Given the description of an element on the screen output the (x, y) to click on. 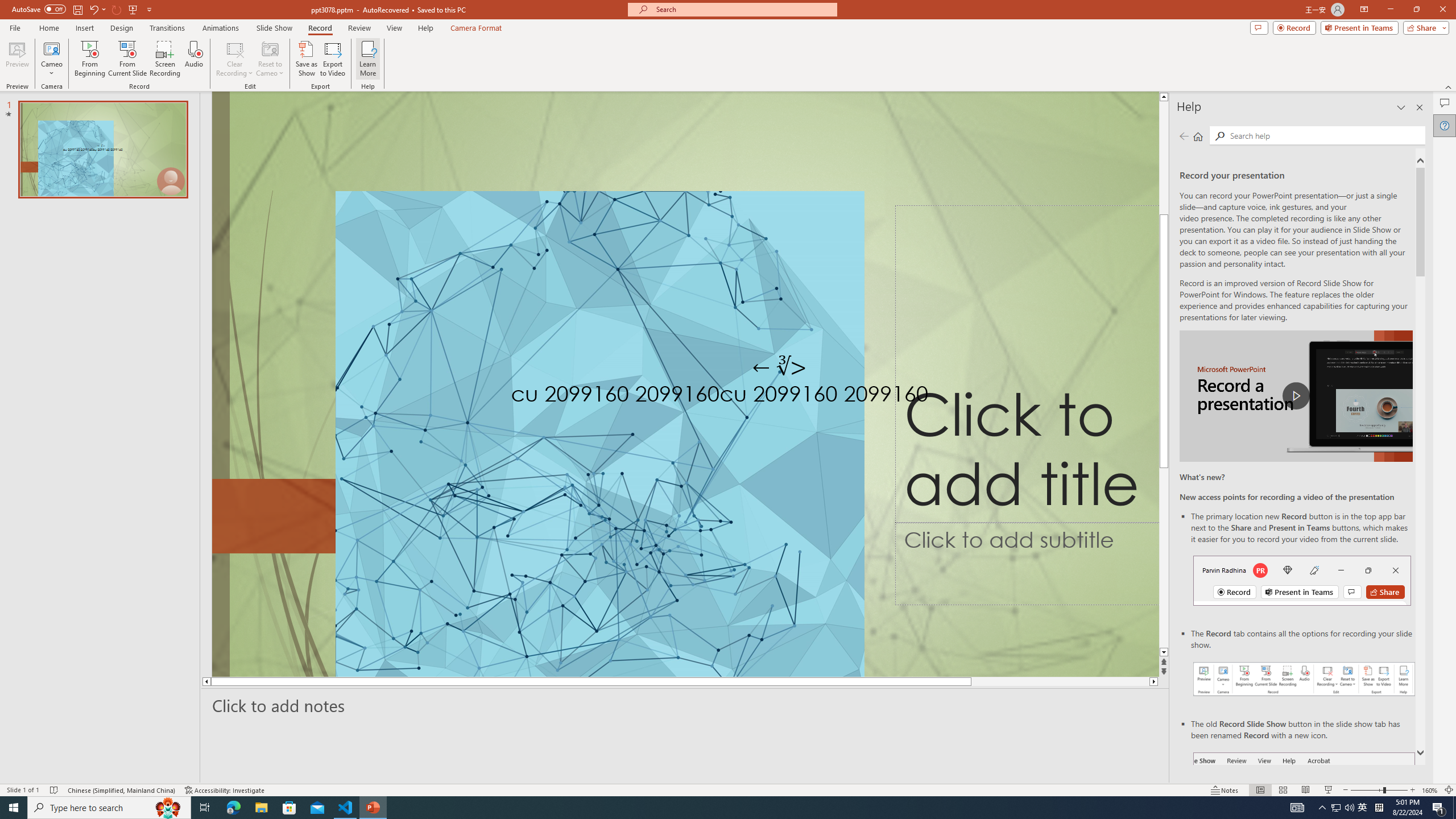
Save as Show (306, 58)
Export to Video (332, 58)
